Given the description of an element on the screen output the (x, y) to click on. 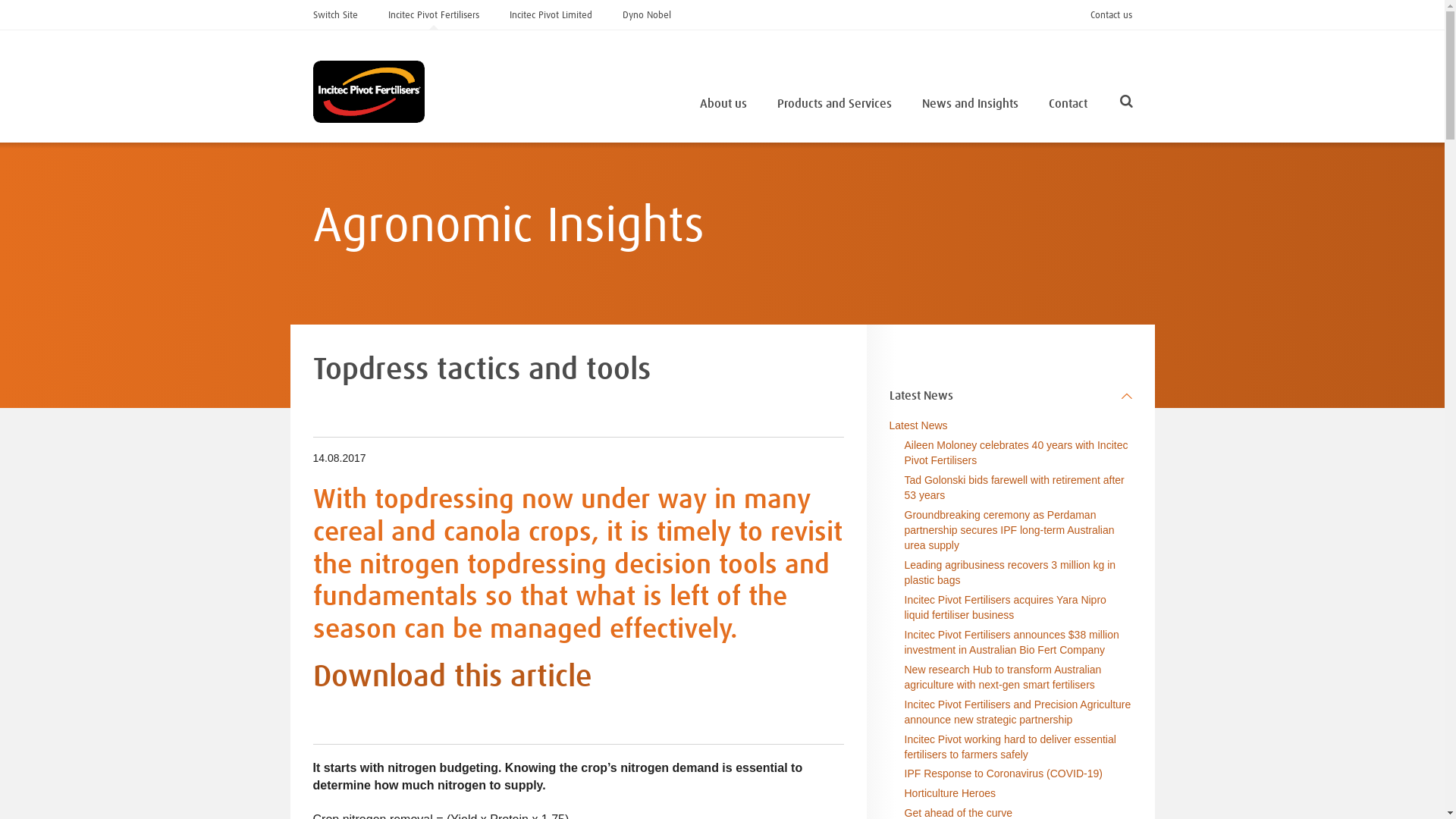
Dyno Nobel Element type: text (645, 14)
Incitec Pivot Limited Element type: text (550, 14)
Horticulture Heroes Element type: text (949, 793)
About us Element type: text (722, 103)
Products and Services Element type: text (833, 103)
News and Insights Element type: text (969, 103)
Incitec Pivot Fertilisers Element type: text (433, 14)
Contact us Element type: text (1111, 14)
Leading agribusiness recovers 3 million kg in plastic bags Element type: text (1009, 572)
Download this article Element type: text (451, 677)
Latest News Element type: text (918, 425)
r Element type: text (1270, 101)
Switch Site Element type: text (334, 14)
IPF Response to Coronavirus (COVID-19) Element type: text (1002, 773)
Tad Golonski bids farewell with retirement after 53 years Element type: text (1013, 487)
Latest News Element type: text (1010, 396)
Show or hide site search input Element type: text (1124, 104)
Contact Element type: text (1066, 103)
